Given the description of an element on the screen output the (x, y) to click on. 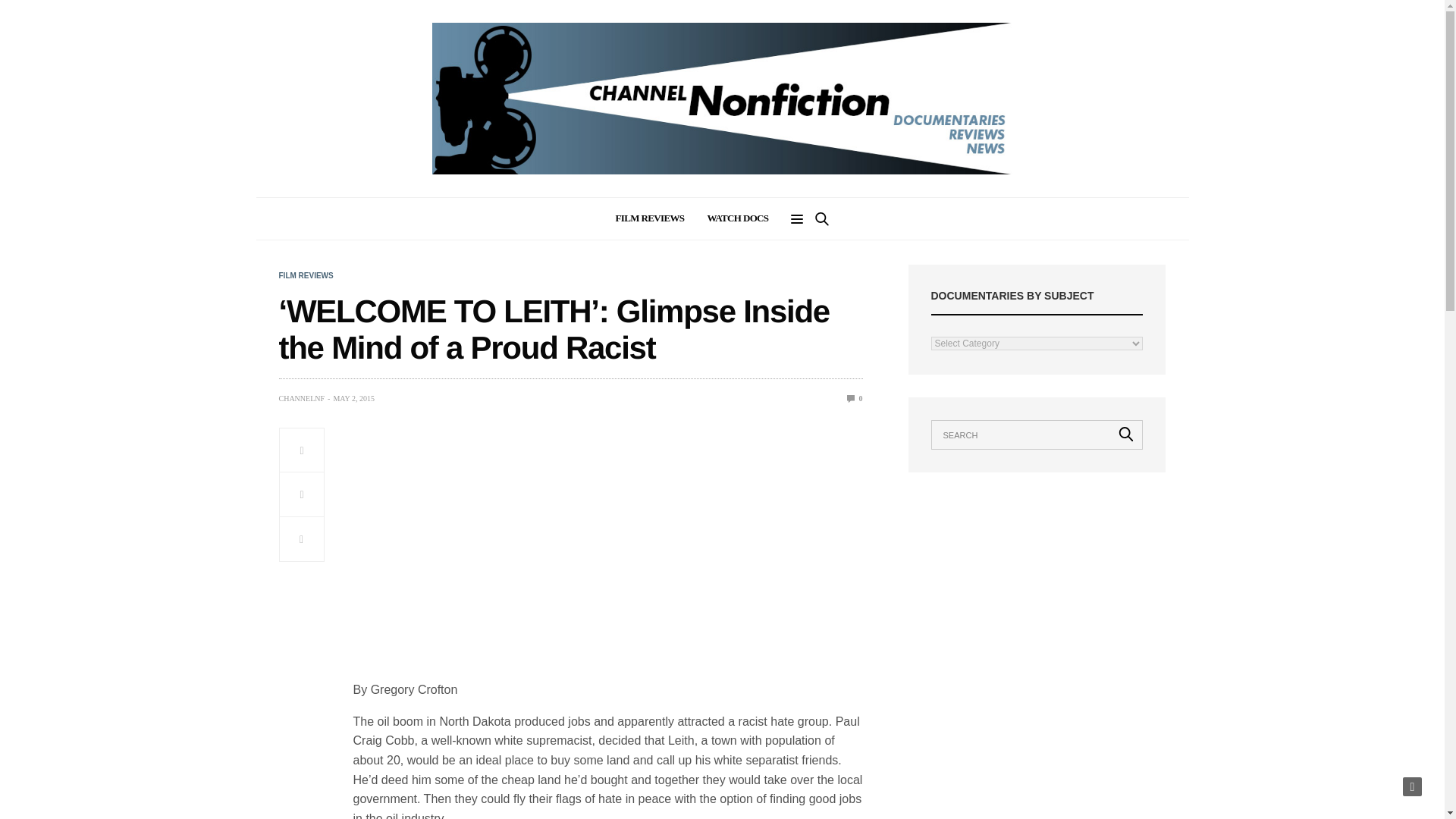
Search (1125, 434)
Search (1125, 434)
WATCH DOCS (737, 218)
Posts by ChannelNF (301, 398)
Film Reviews (306, 275)
0 (855, 397)
FILM REVIEWS (306, 275)
CHANNELNF (301, 398)
FILM REVIEWS (649, 218)
Search (800, 260)
